Given the description of an element on the screen output the (x, y) to click on. 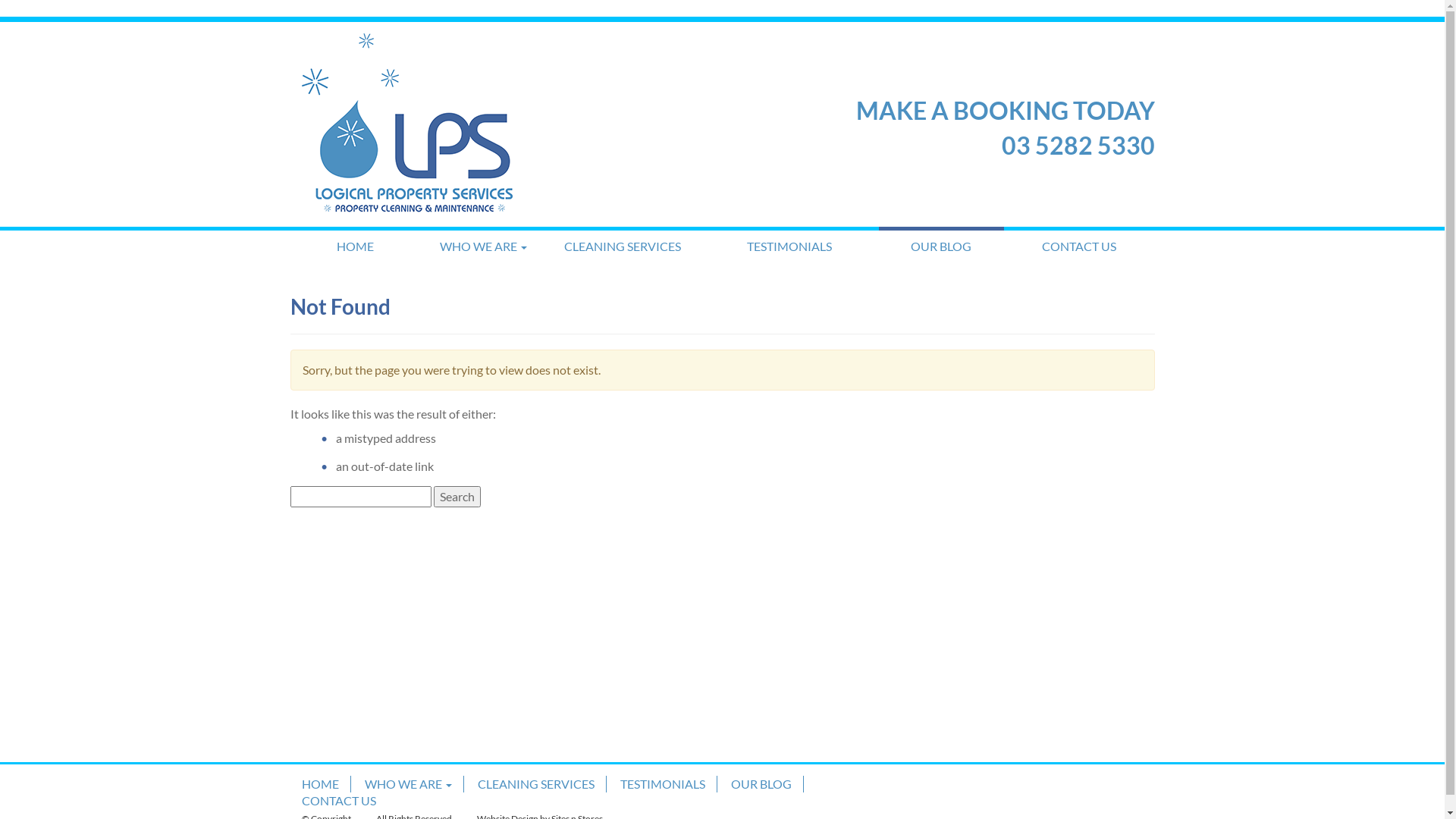
TESTIMONIALS Element type: text (788, 246)
CONTACT US Element type: text (337, 800)
HOME Element type: text (354, 246)
CLEANING SERVICES Element type: text (535, 783)
TESTIMONIALS Element type: text (661, 783)
CLEANING SERVICES Element type: text (623, 246)
Search Element type: text (456, 496)
WHO WE ARE Element type: text (408, 783)
OUR BLOG Element type: text (760, 783)
HOME Element type: text (319, 783)
OUR BLOG Element type: text (941, 246)
03 5282 5330 Element type: text (1077, 145)
WHO WE ARE Element type: text (483, 246)
CONTACT US Element type: text (1079, 246)
